Given the description of an element on the screen output the (x, y) to click on. 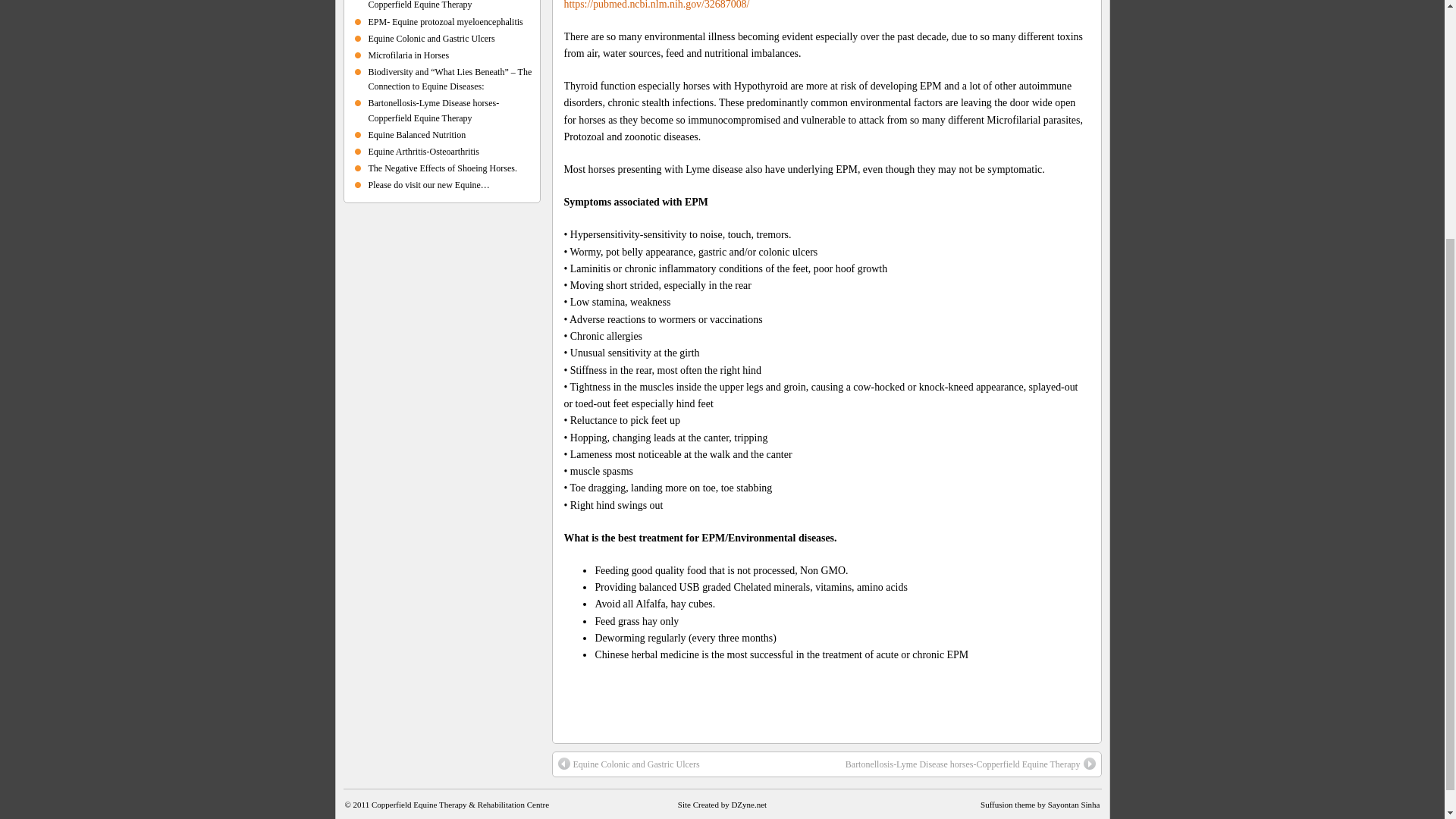
Suffusion theme by Sayontan Sinha (1039, 804)
Equine Balanced Nutrition (416, 134)
EPM- Equine protozoal myeloencephalitis (445, 20)
DZyne.net (748, 804)
Equine Colonic and Gastric Ulcers (431, 38)
Equine Arthritis-Osteoarthritis (423, 151)
Bartonellosis-Lyme Disease horses-Copperfield Equine Therapy (433, 4)
Microfilaria in Horses (408, 54)
Bartonellosis-Lyme Disease horses-Copperfield Equine Therapy (433, 109)
  Equine Colonic and Gastric Ulcers (628, 764)
The Negative Effects of Shoeing Horses. (442, 167)
